Given the description of an element on the screen output the (x, y) to click on. 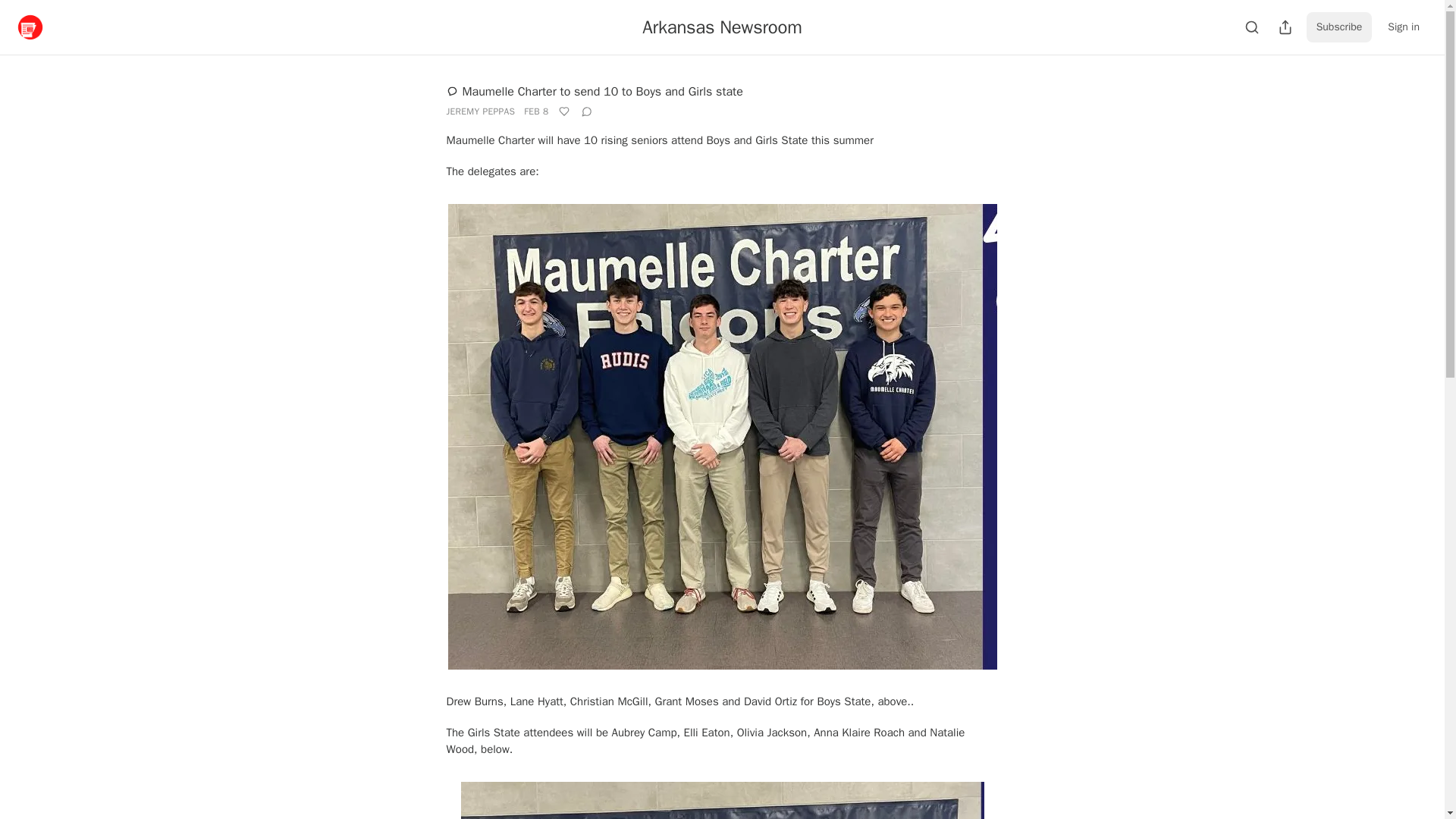
Subscribe (1339, 27)
Maumelle Charter to send 10 to Boys and Girls state (593, 91)
JEREMY PEPPAS (480, 111)
2024-02-08T01:49:56.705Z (536, 111)
Sign in (1403, 27)
Arkansas Newsroom (722, 26)
